Given the description of an element on the screen output the (x, y) to click on. 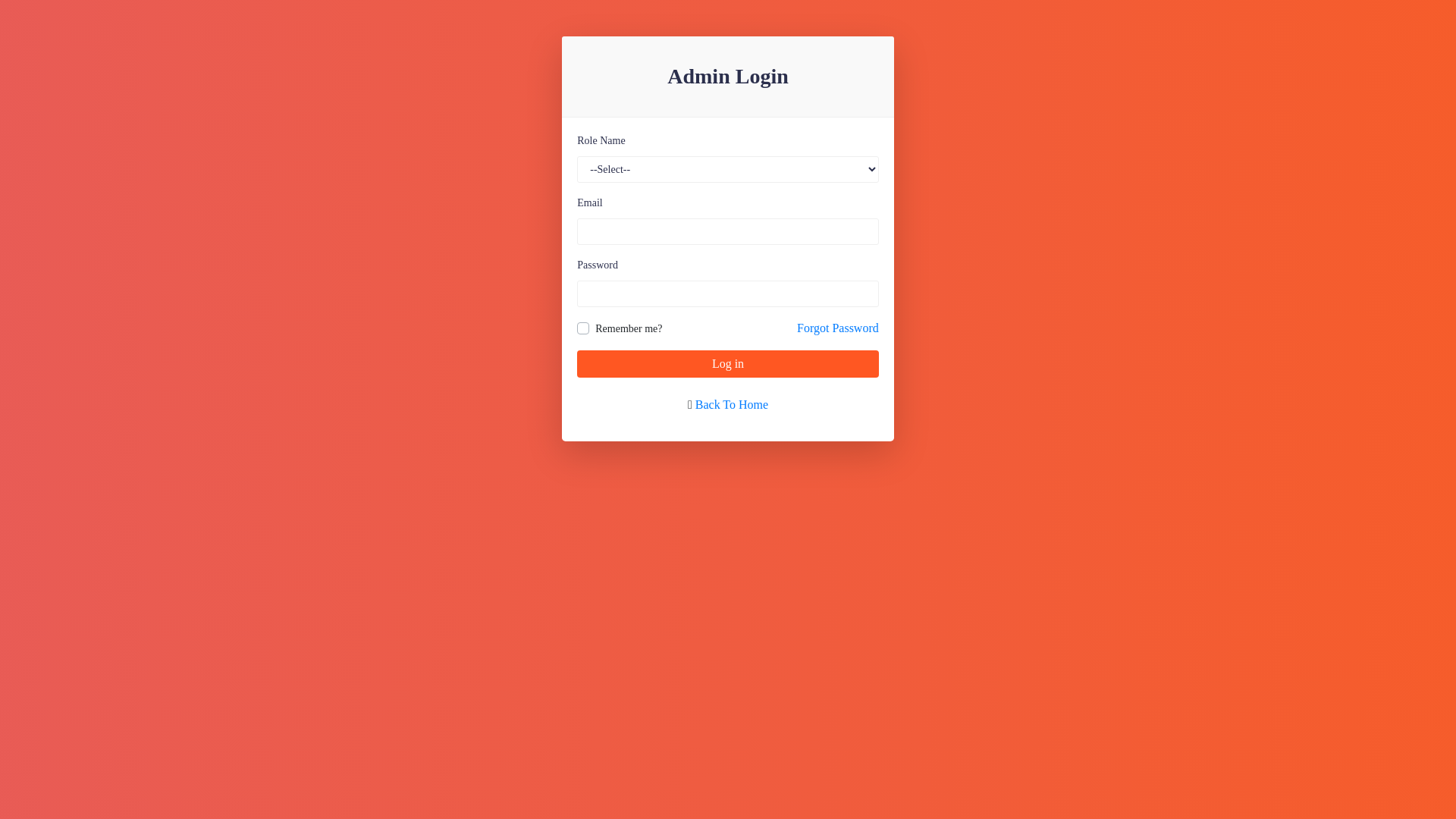
Log in Element type: text (727, 363)
Forgot Password Element type: text (837, 328)
Back To Home Element type: text (731, 404)
